Given the description of an element on the screen output the (x, y) to click on. 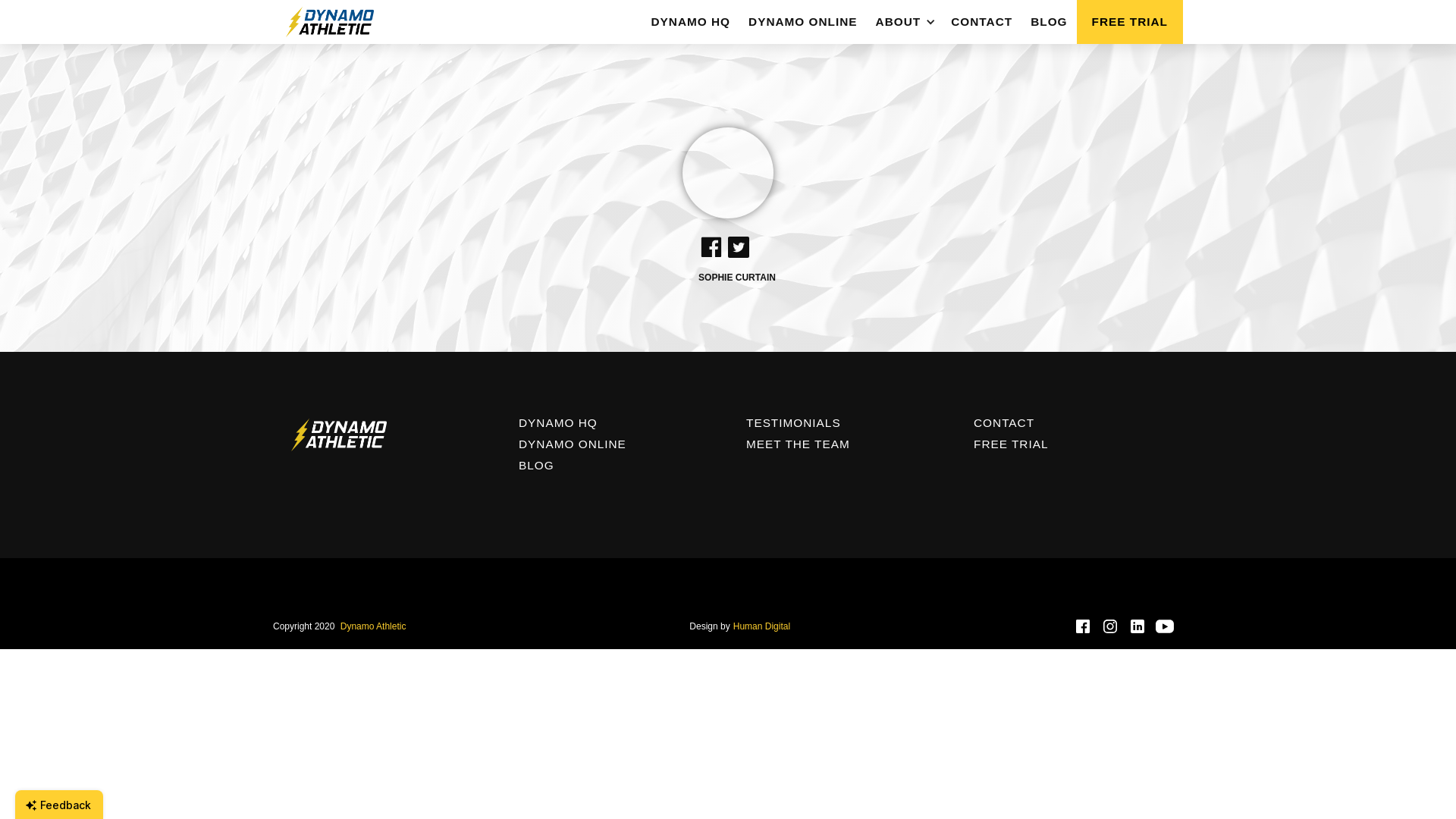
FREE TRIAL Element type: text (1129, 21)
CONTACT Element type: text (981, 21)
CONTACT Element type: text (1068, 422)
BLOG Element type: text (1048, 21)
DYNAMO ONLINE Element type: text (613, 443)
DYNAMO HQ Element type: text (690, 21)
TESTIMONIALS Element type: text (841, 422)
BLOG Element type: text (613, 465)
Dynamo Athletic Element type: text (373, 626)
Human Digital Element type: text (761, 626)
MEET THE TEAM Element type: text (841, 443)
FREE TRIAL Element type: text (1068, 443)
DYNAMO ONLINE Element type: text (802, 21)
DYNAMO HQ Element type: text (613, 422)
